Given the description of an element on the screen output the (x, y) to click on. 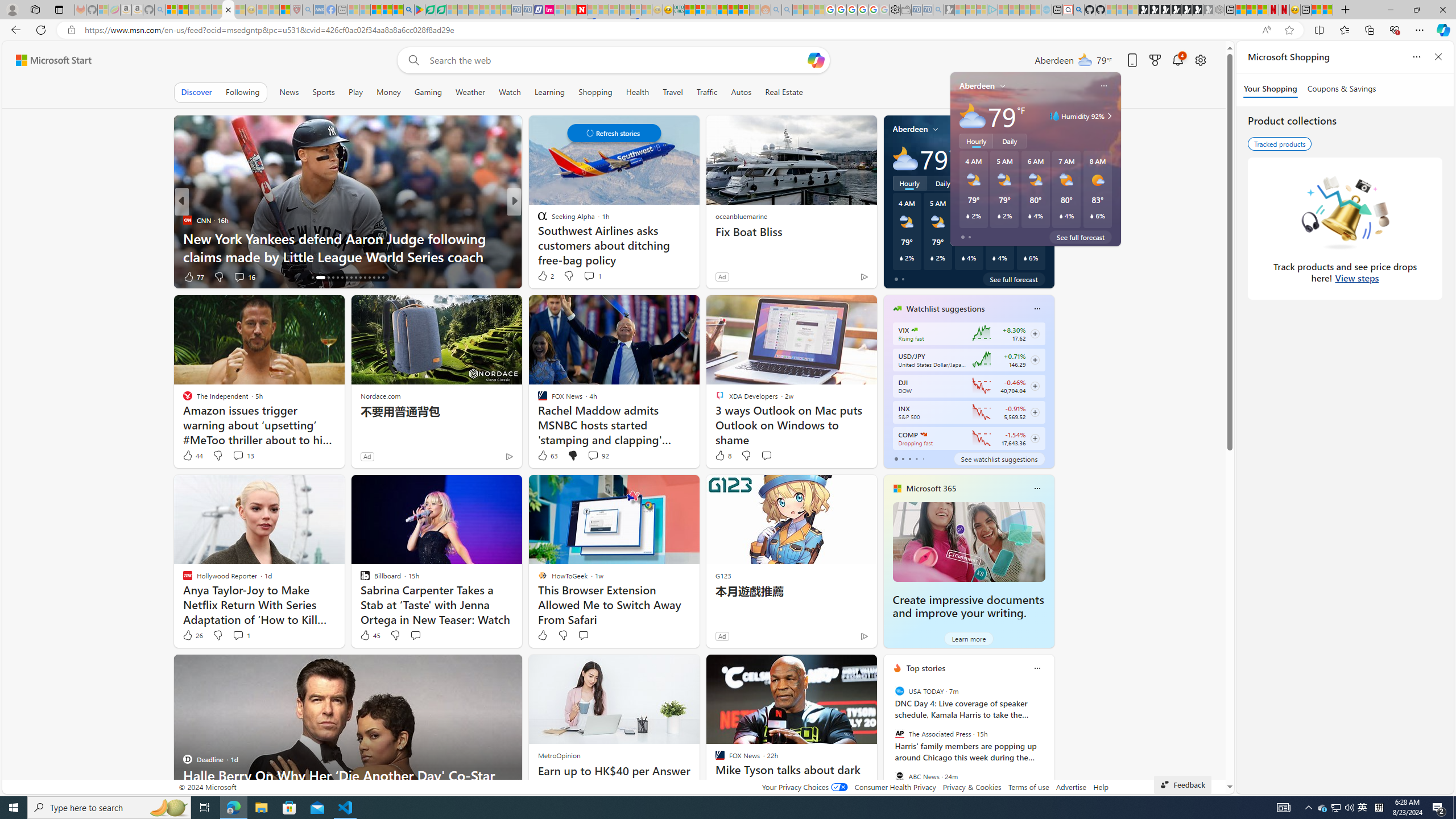
51 Like (543, 276)
25 Like (543, 276)
Local - MSN (285, 9)
